Given the description of an element on the screen output the (x, y) to click on. 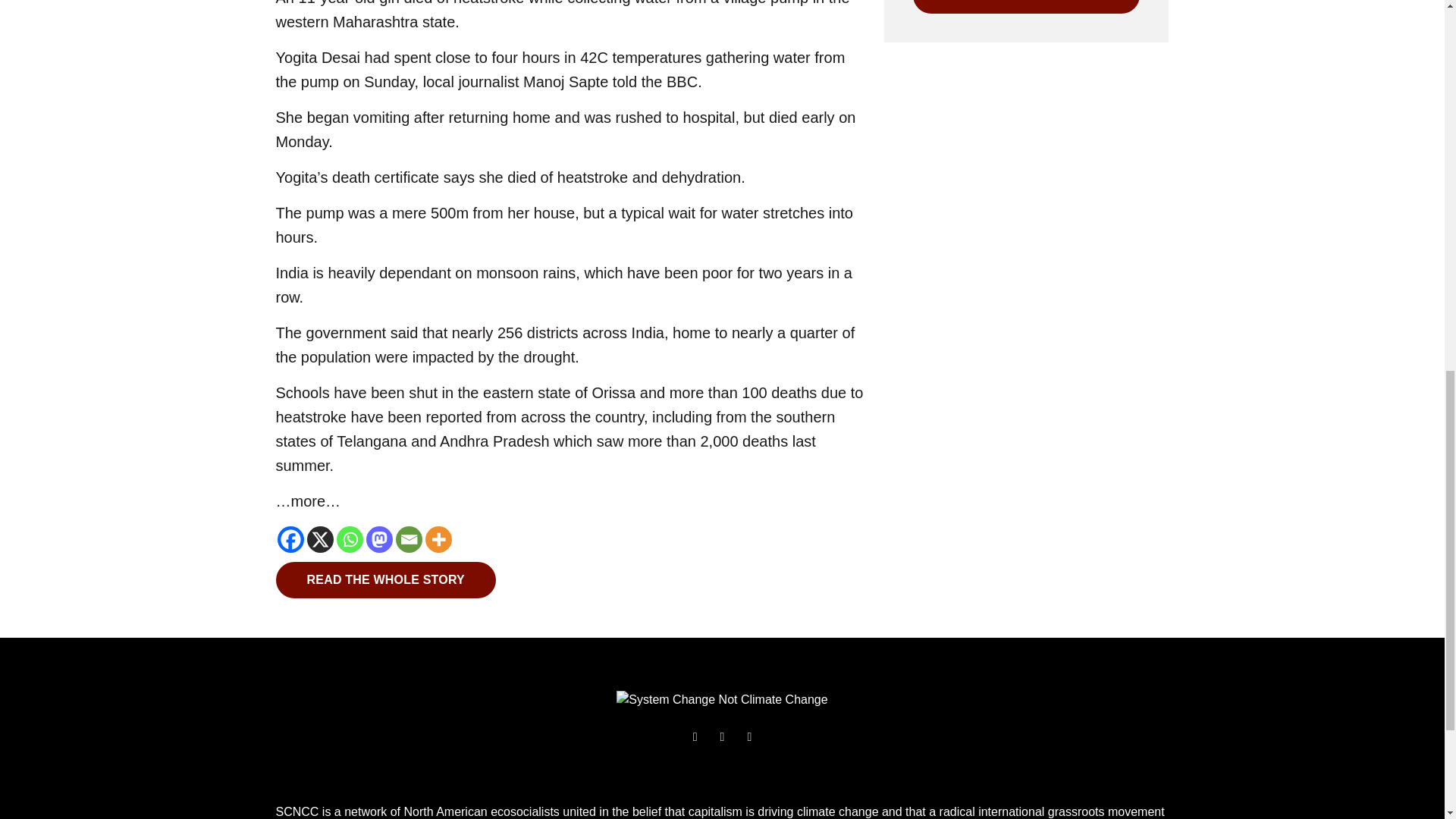
More (438, 539)
Facebook (291, 539)
Mastodon (378, 539)
Whatsapp (349, 539)
Email (409, 539)
X (319, 539)
